Given the description of an element on the screen output the (x, y) to click on. 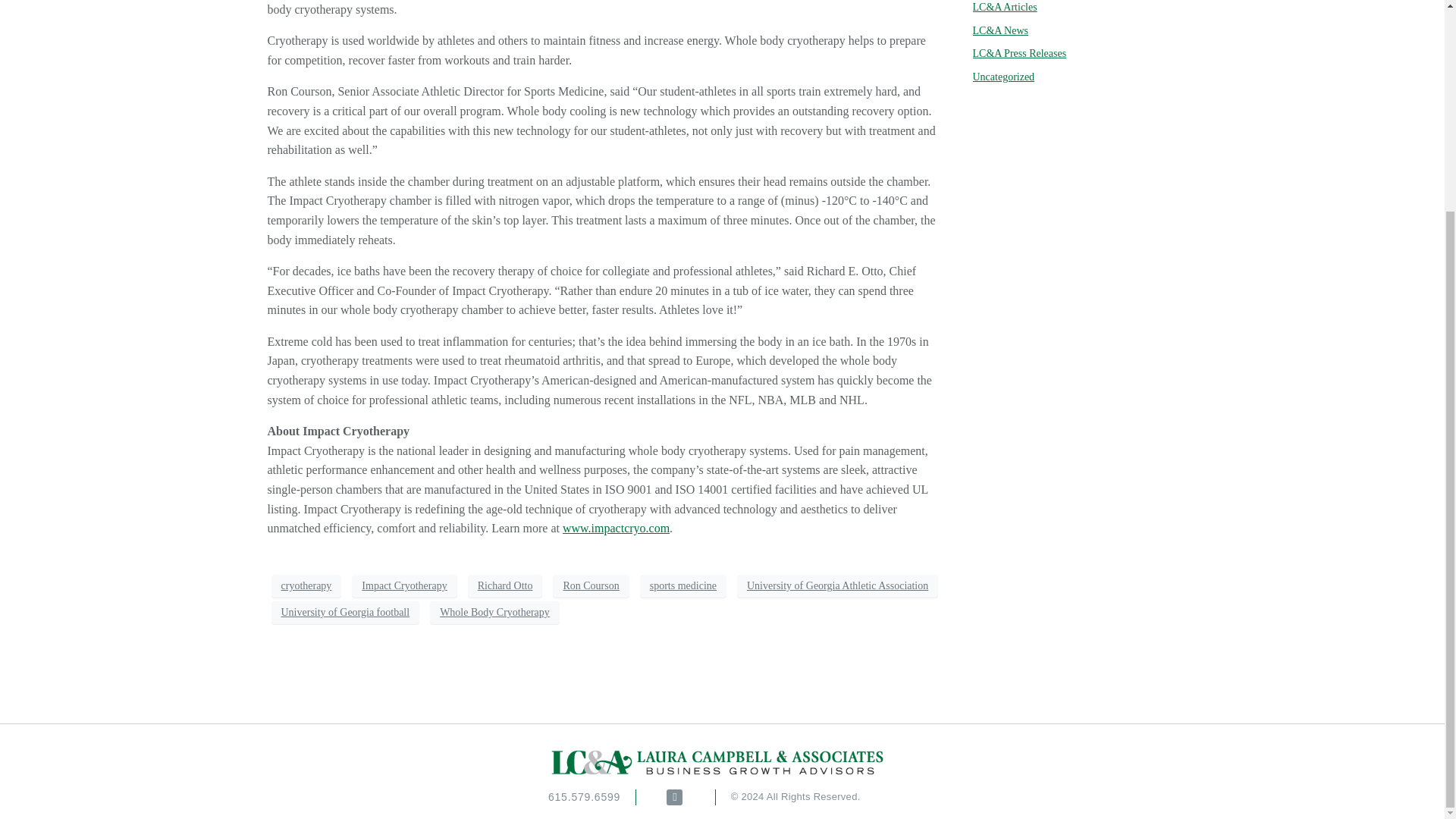
University of Georgia Athletic Association (836, 585)
University of Georgia football (345, 612)
Impact Cryotherapy (404, 585)
sports medicine (683, 585)
Ron Courson (590, 585)
Richard Otto (505, 585)
www.impactcryo.com (615, 527)
Uncategorized (1002, 76)
cryotherapy (306, 585)
Whole Body Cryotherapy (494, 612)
